Given the description of an element on the screen output the (x, y) to click on. 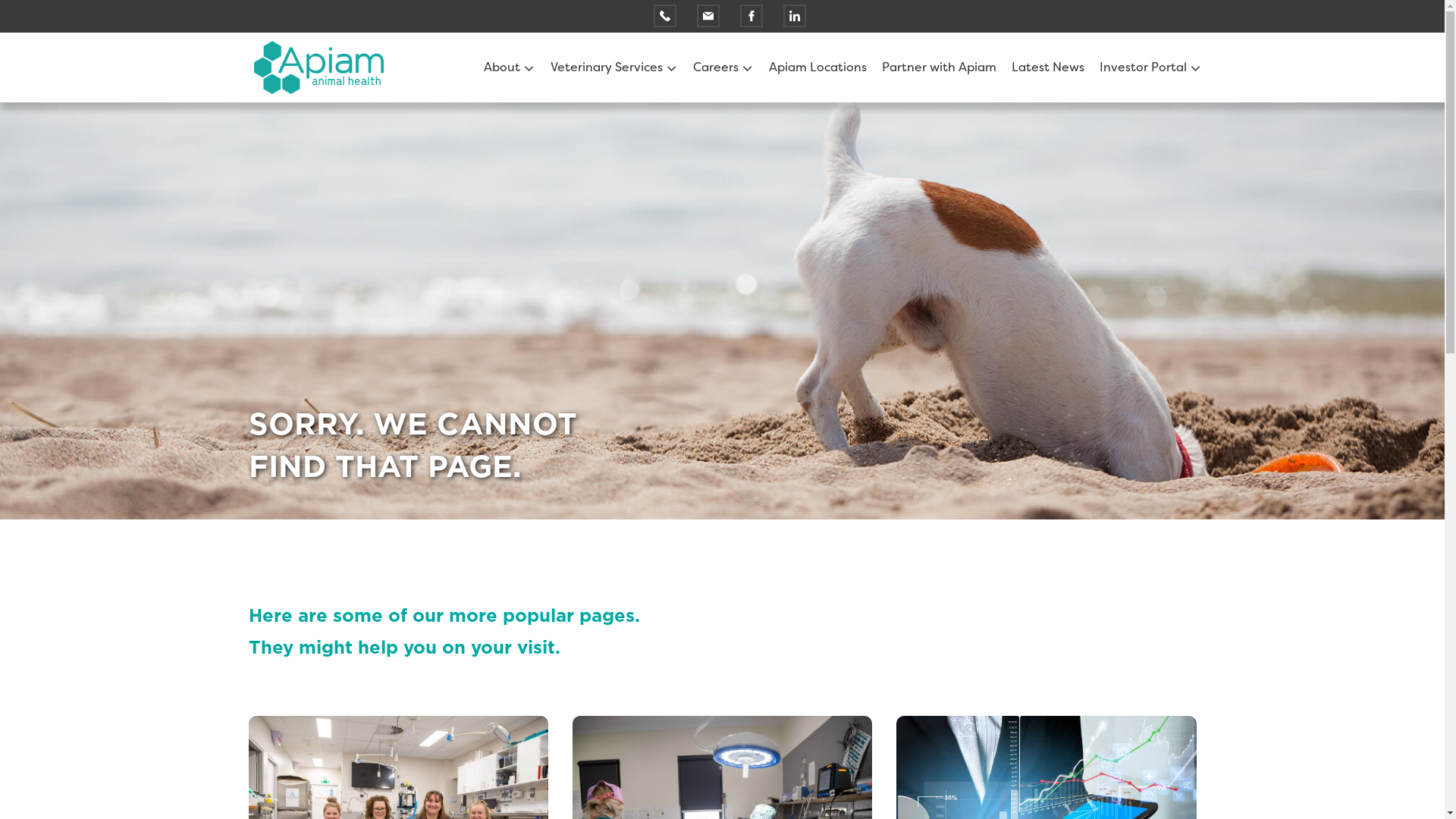
Partner with Apiam Element type: text (938, 67)
Careers Element type: text (717, 67)
Apiam Locations Element type: text (817, 67)
Investor Portal Element type: text (1144, 67)
About Element type: text (503, 67)
Latest News Element type: text (1047, 67)
Veterinary Services Element type: text (607, 67)
